Given the description of an element on the screen output the (x, y) to click on. 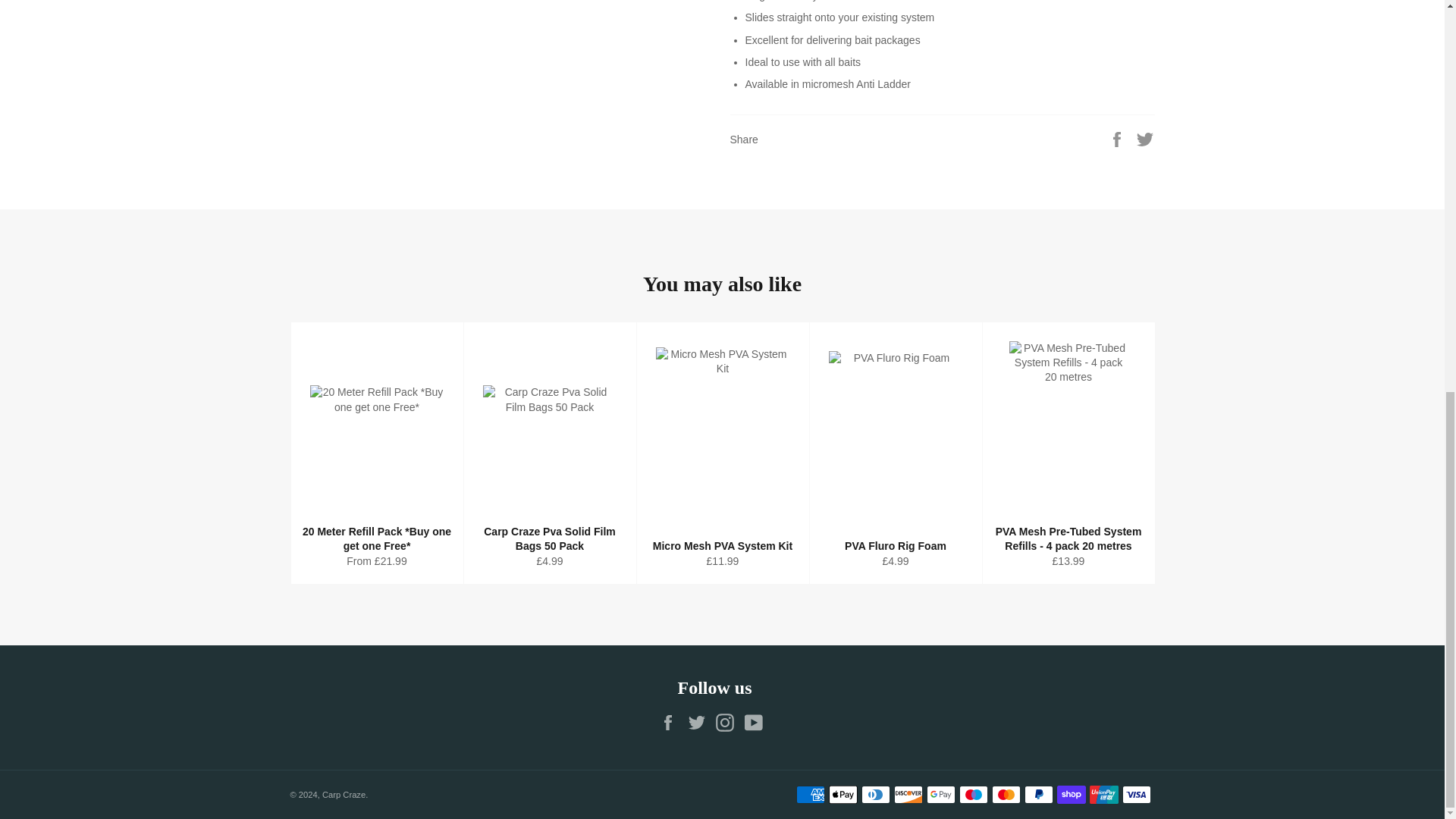
Share on Facebook (1118, 138)
Carp Craze on Instagram (728, 722)
Share on Facebook (1118, 138)
Carp Craze on Twitter (700, 722)
Tweet on Twitter (1144, 138)
Tweet on Twitter (1144, 138)
Carp Craze on Facebook (671, 722)
Carp Craze on YouTube (757, 722)
